Given the description of an element on the screen output the (x, y) to click on. 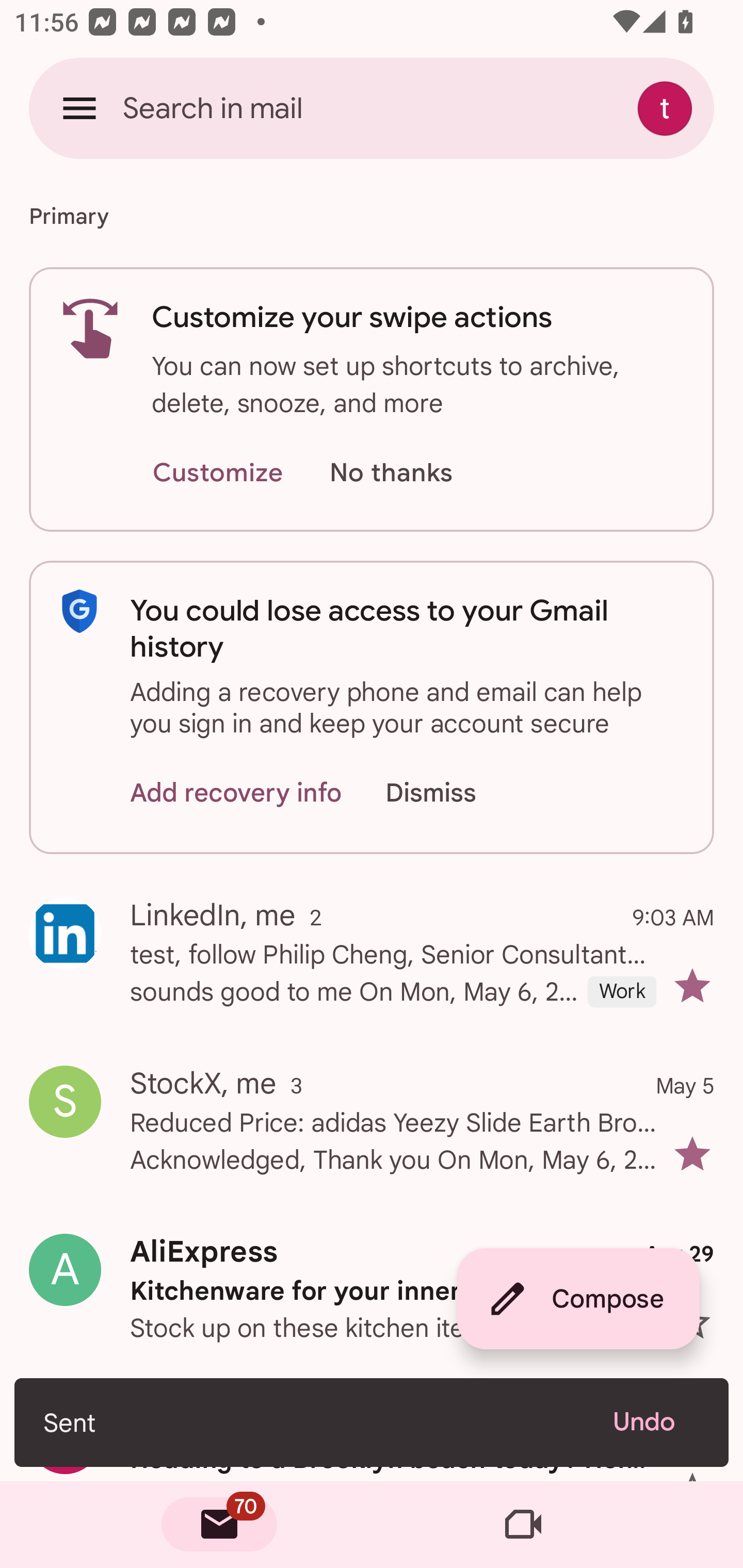
Open navigation drawer (79, 108)
Customize (217, 473)
No thanks (390, 473)
Add recovery info (235, 792)
Dismiss (449, 792)
Compose (577, 1299)
Undo (655, 1422)
Meet (523, 1524)
